Given the description of an element on the screen output the (x, y) to click on. 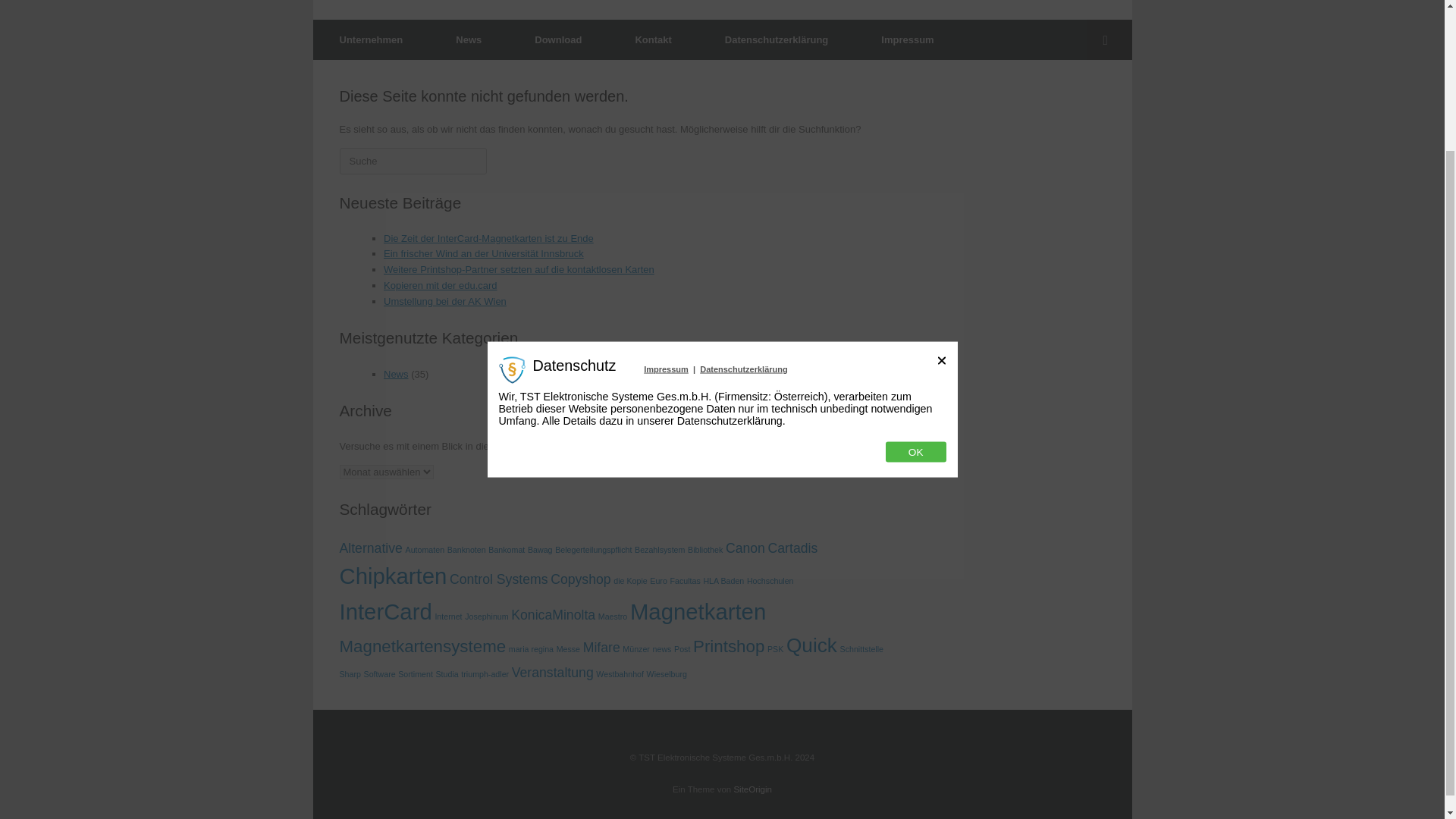
Bankomat (505, 549)
Automaten (425, 549)
InterCard (385, 611)
News (396, 374)
Bezahlsystem (659, 549)
die Kopie (629, 580)
Umstellung bei der AK Wien (445, 301)
Unternehmen (371, 39)
News (468, 39)
Download (558, 39)
